Given the description of an element on the screen output the (x, y) to click on. 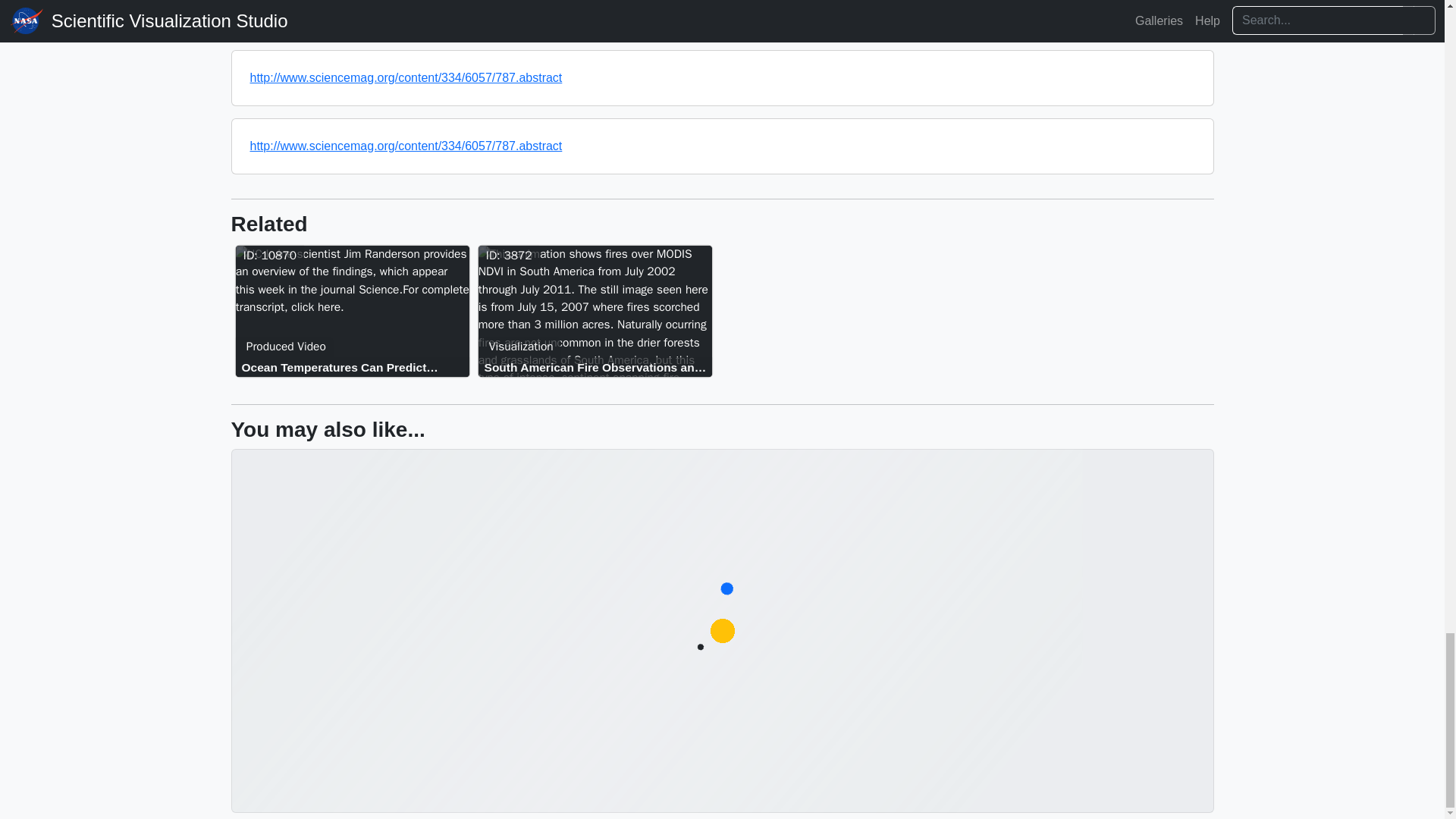
Go to this page (355, 367)
Go to this page (598, 313)
Go to this page (598, 367)
Go to this page (355, 313)
